Given the description of an element on the screen output the (x, y) to click on. 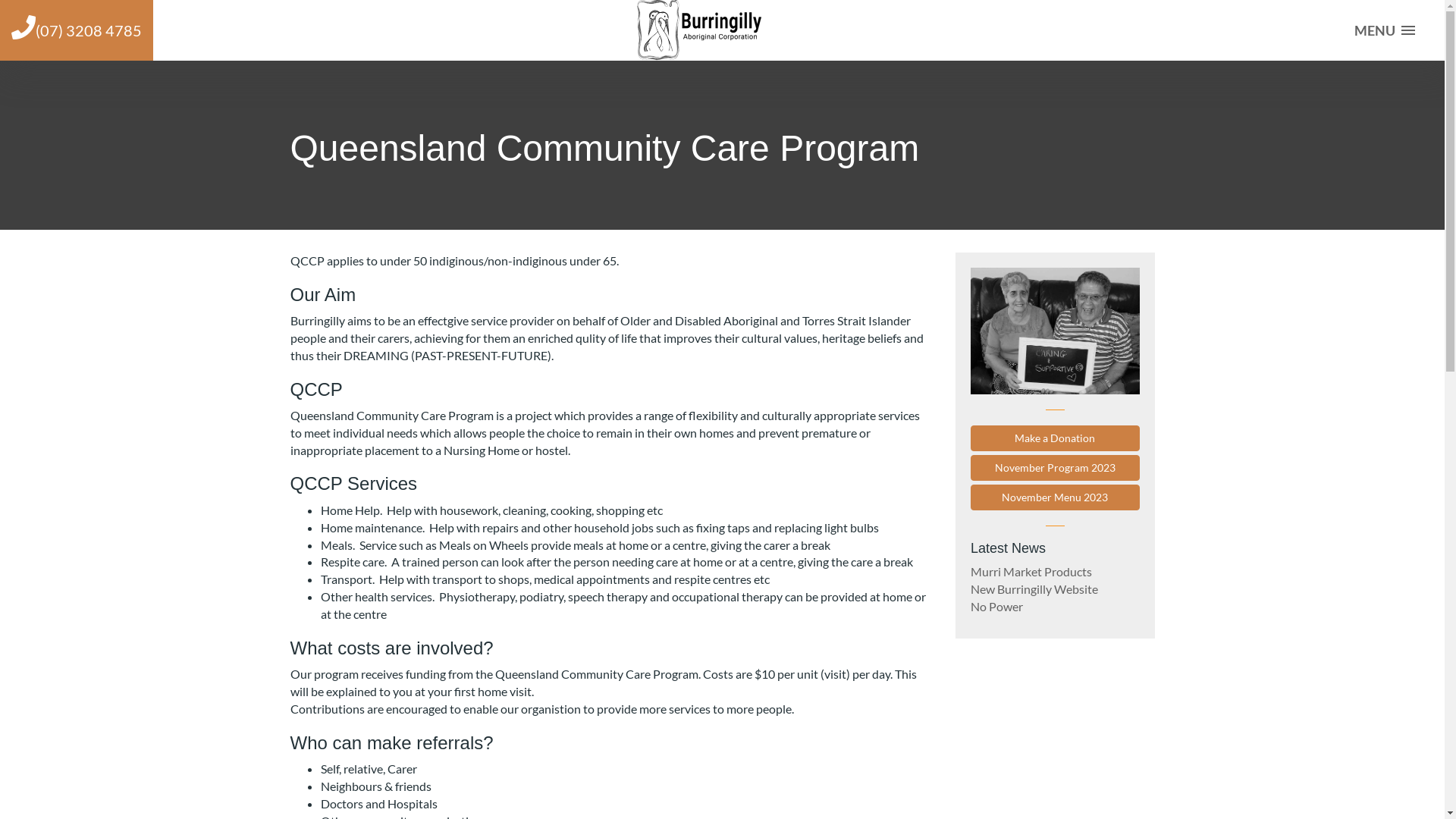
November Menu 2023 Element type: text (1054, 497)
Make a Donation Element type: text (1054, 438)
Murri Market Products Element type: text (1031, 571)
November Program 2023 Element type: text (1054, 467)
No Power Element type: text (996, 606)
MENU Element type: text (1380, 29)
New Burringilly Website Element type: text (1034, 588)
